Given the description of an element on the screen output the (x, y) to click on. 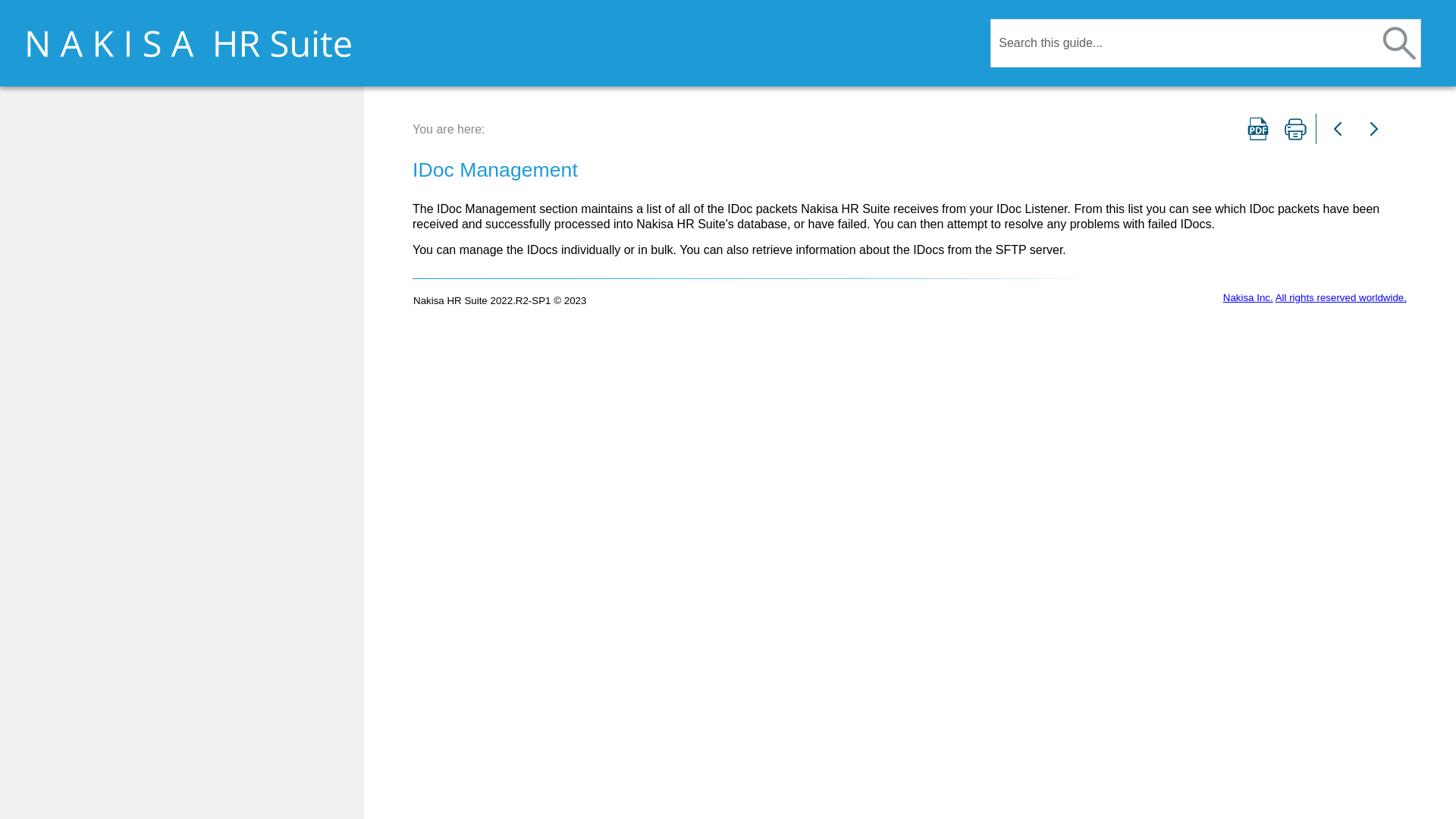
Print (1293, 128)
PDF Guide (1257, 128)
Navigate previous (1337, 128)
Navigate next (1373, 128)
All rights reserved worldwide. (1340, 297)
Nakisa Inc. (1247, 297)
